Given the description of an element on the screen output the (x, y) to click on. 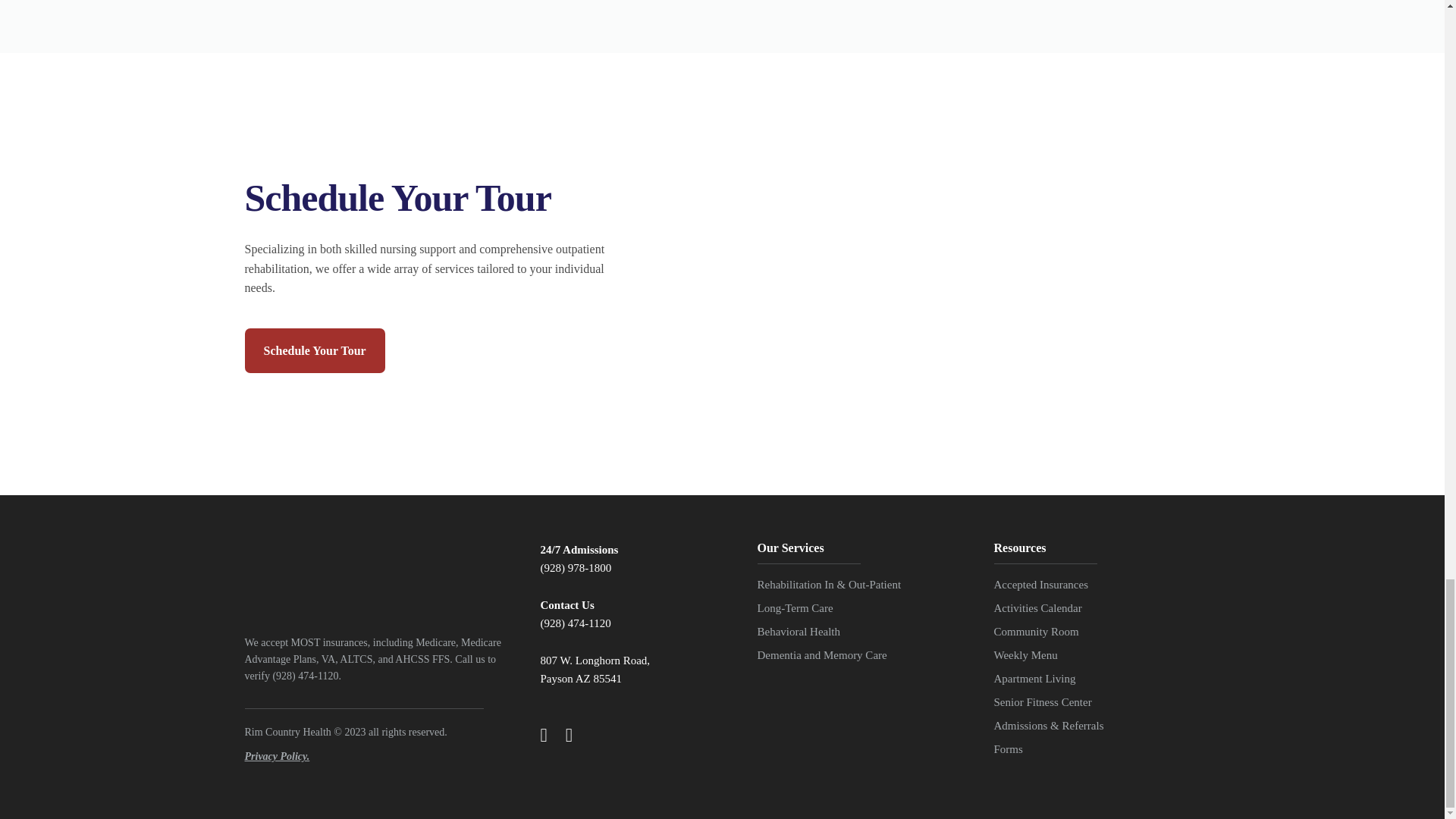
Schedule Your Tour (314, 350)
Privacy Policy. (276, 756)
logo white (342, 571)
